Given the description of an element on the screen output the (x, y) to click on. 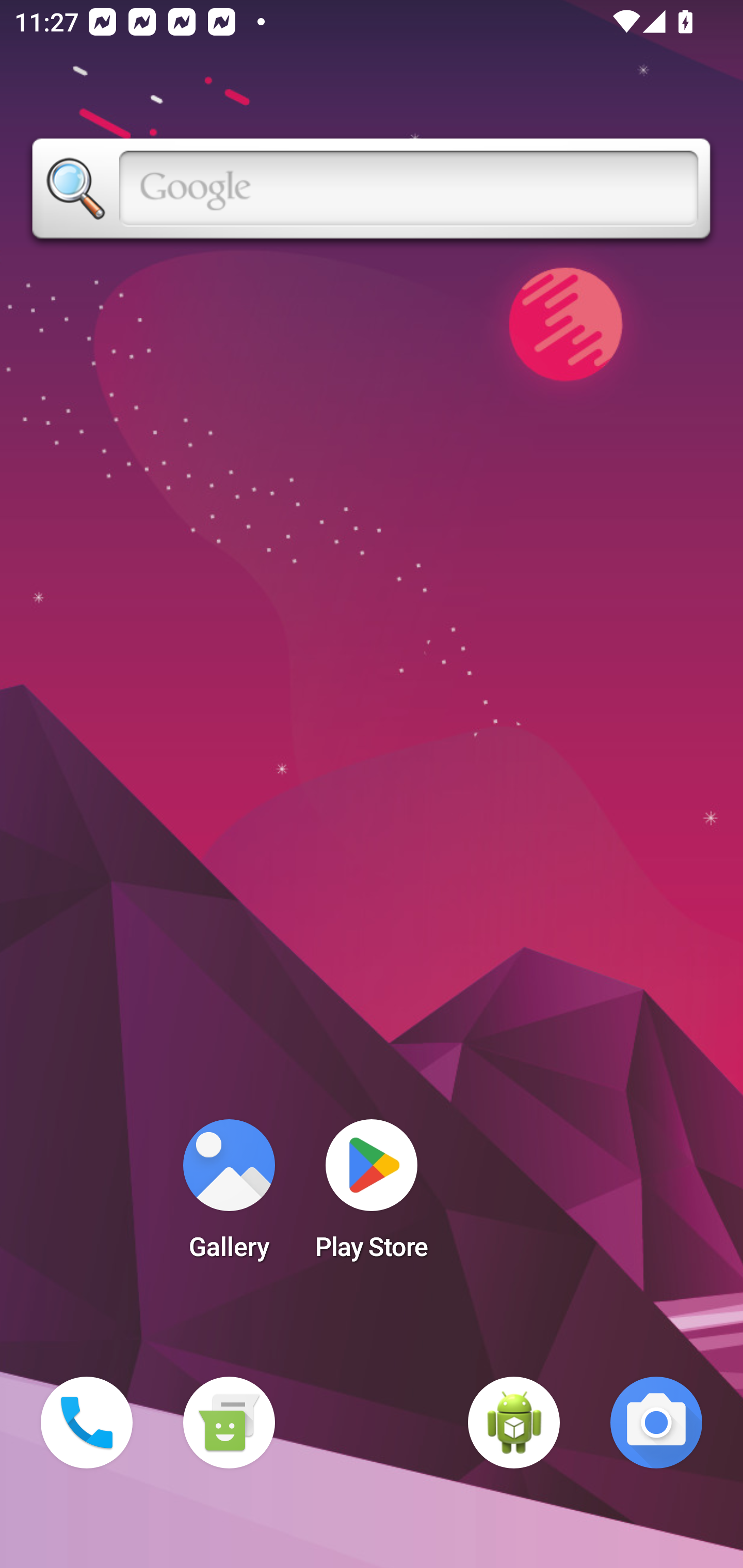
Gallery (228, 1195)
Play Store (371, 1195)
Phone (86, 1422)
Messaging (228, 1422)
WebView Browser Tester (513, 1422)
Camera (656, 1422)
